Given the description of an element on the screen output the (x, y) to click on. 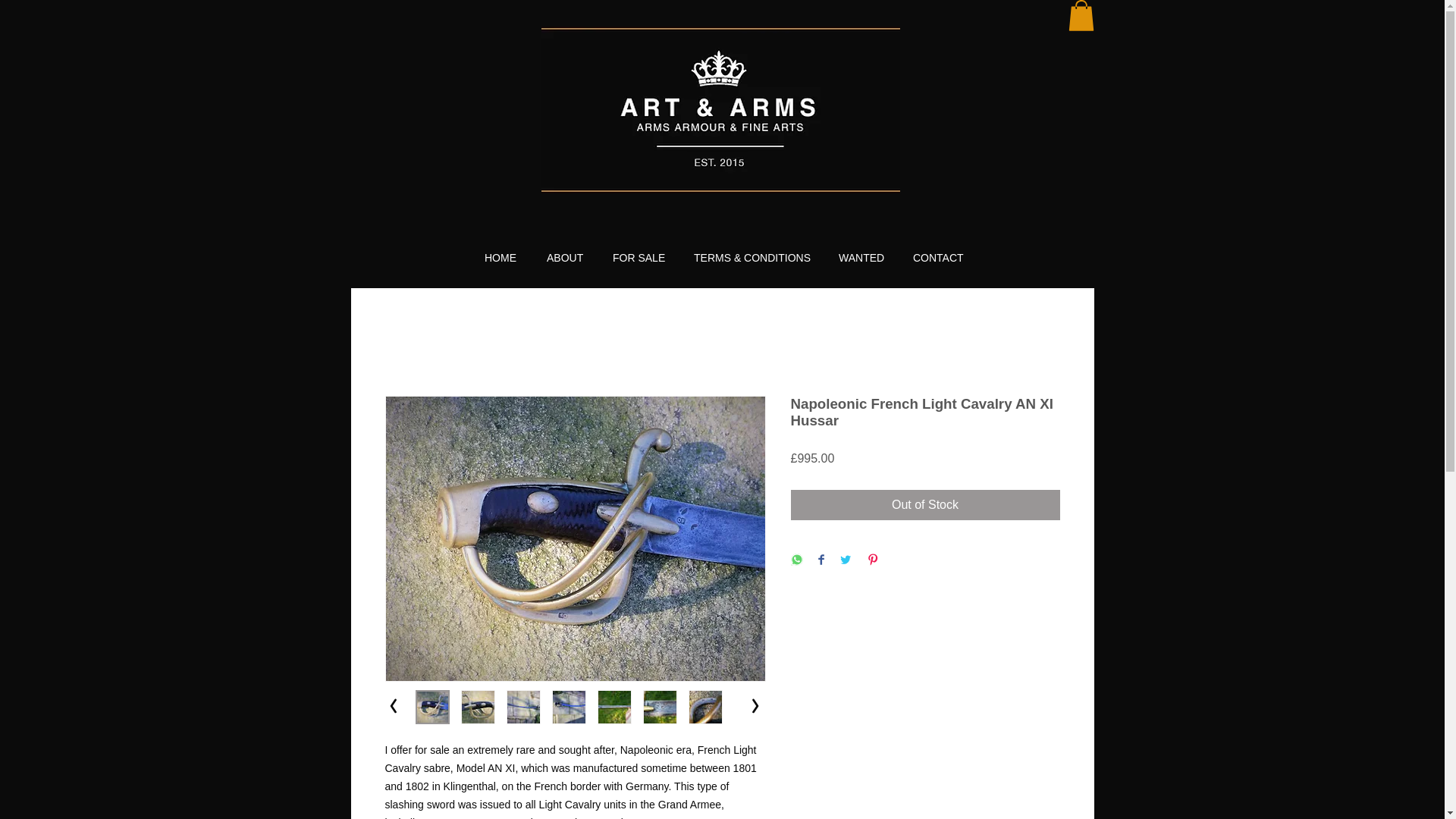
HOME (499, 256)
Out of Stock (924, 504)
WANTED (861, 256)
ABOUT (563, 256)
CONTACT (937, 256)
